Given the description of an element on the screen output the (x, y) to click on. 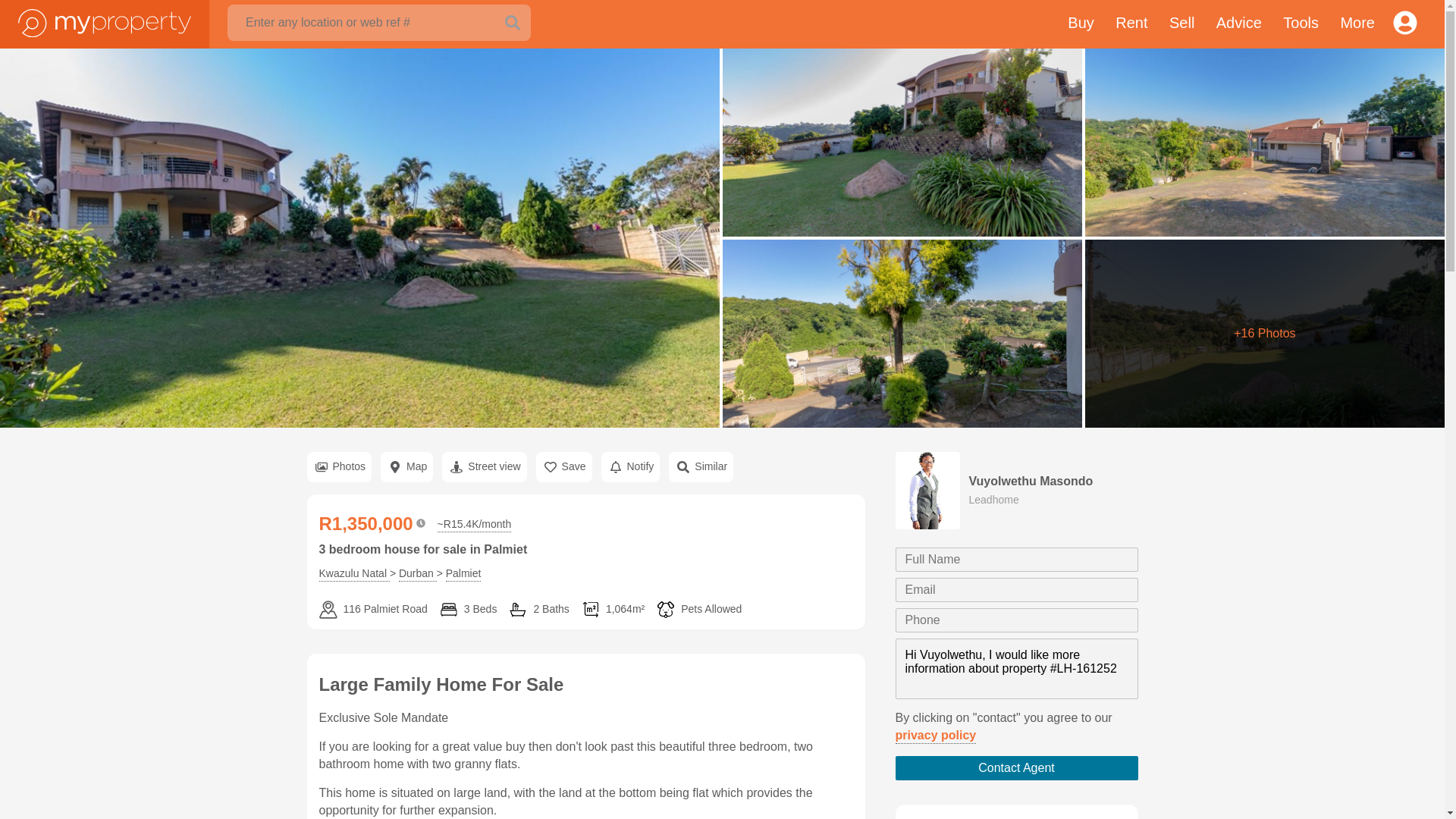
Property address (372, 610)
Tools (1300, 24)
Rent (1131, 24)
Houses and Properties for sale and rent in South Africa (104, 21)
Your estimated total monthly repayments, click for details (475, 524)
Buy (1080, 24)
Sell (1181, 24)
Pets allowed (698, 610)
Advice (1238, 24)
